Given the description of an element on the screen output the (x, y) to click on. 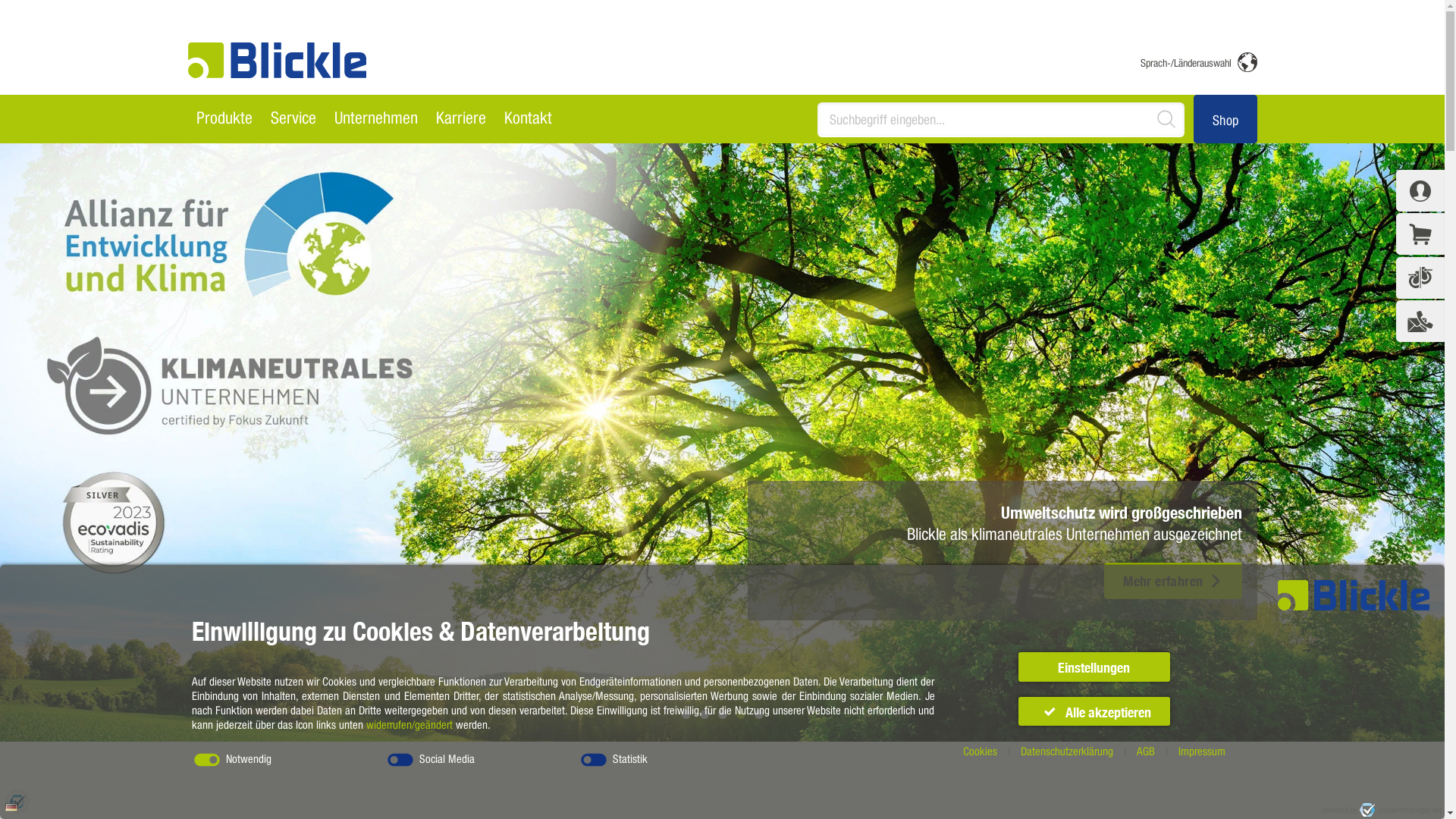
Mehr erfahren Element type: text (1172, 580)
Kontakt Element type: text (528, 118)
Anmelden Element type: text (1420, 190)
Shop Element type: text (1225, 117)
Blickle Logo Element type: hover (277, 60)
Karriere Element type: text (460, 118)
Service Element type: text (293, 118)
Unternehmen Element type: text (375, 118)
Suche Element type: text (1172, 118)
Produkte Element type: text (225, 118)
Blickle ist klimaneutrales Unternehmen Element type: hover (722, 442)
